Given the description of an element on the screen output the (x, y) to click on. 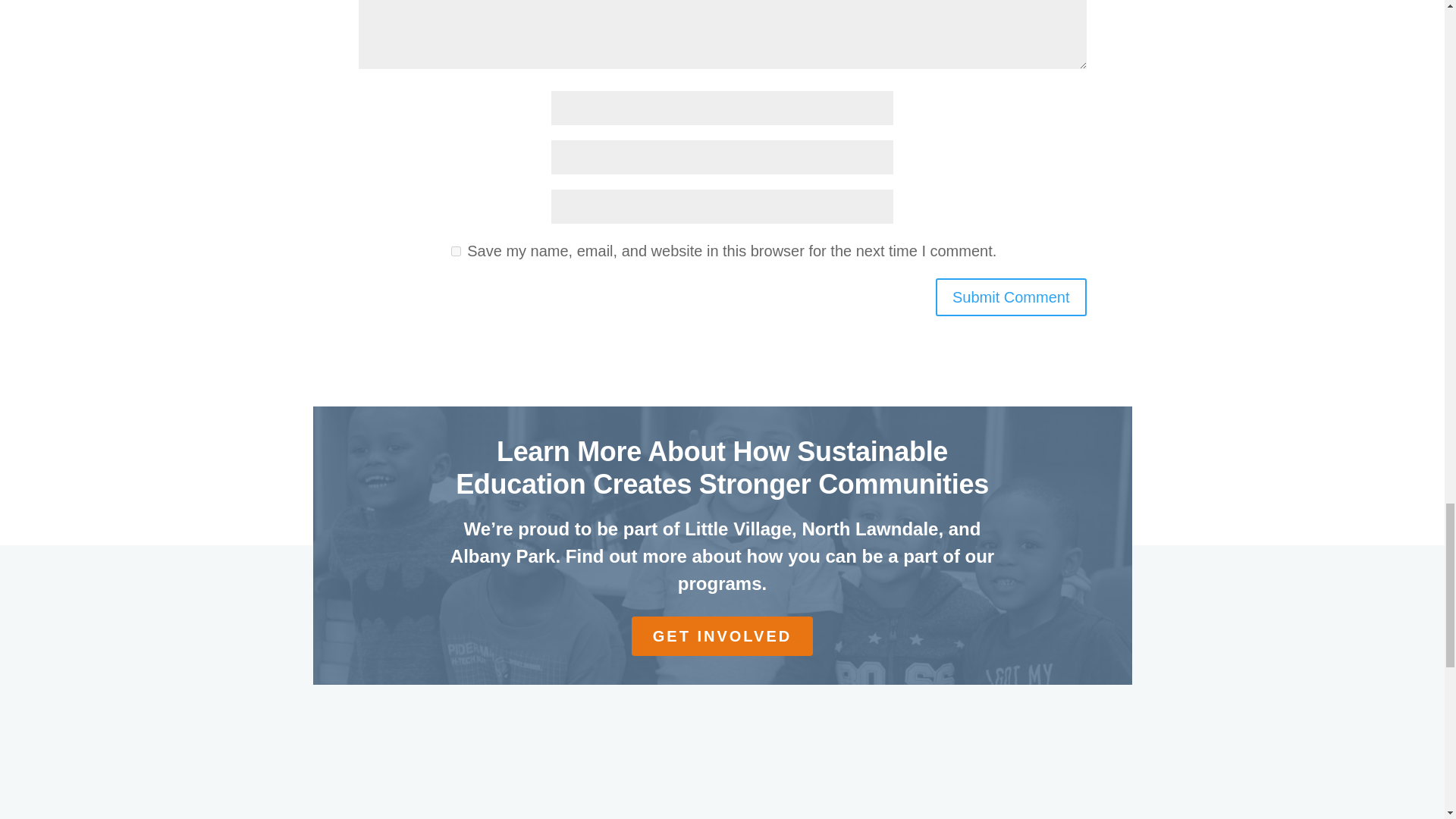
Submit Comment (1011, 297)
yes (456, 251)
